Given the description of an element on the screen output the (x, y) to click on. 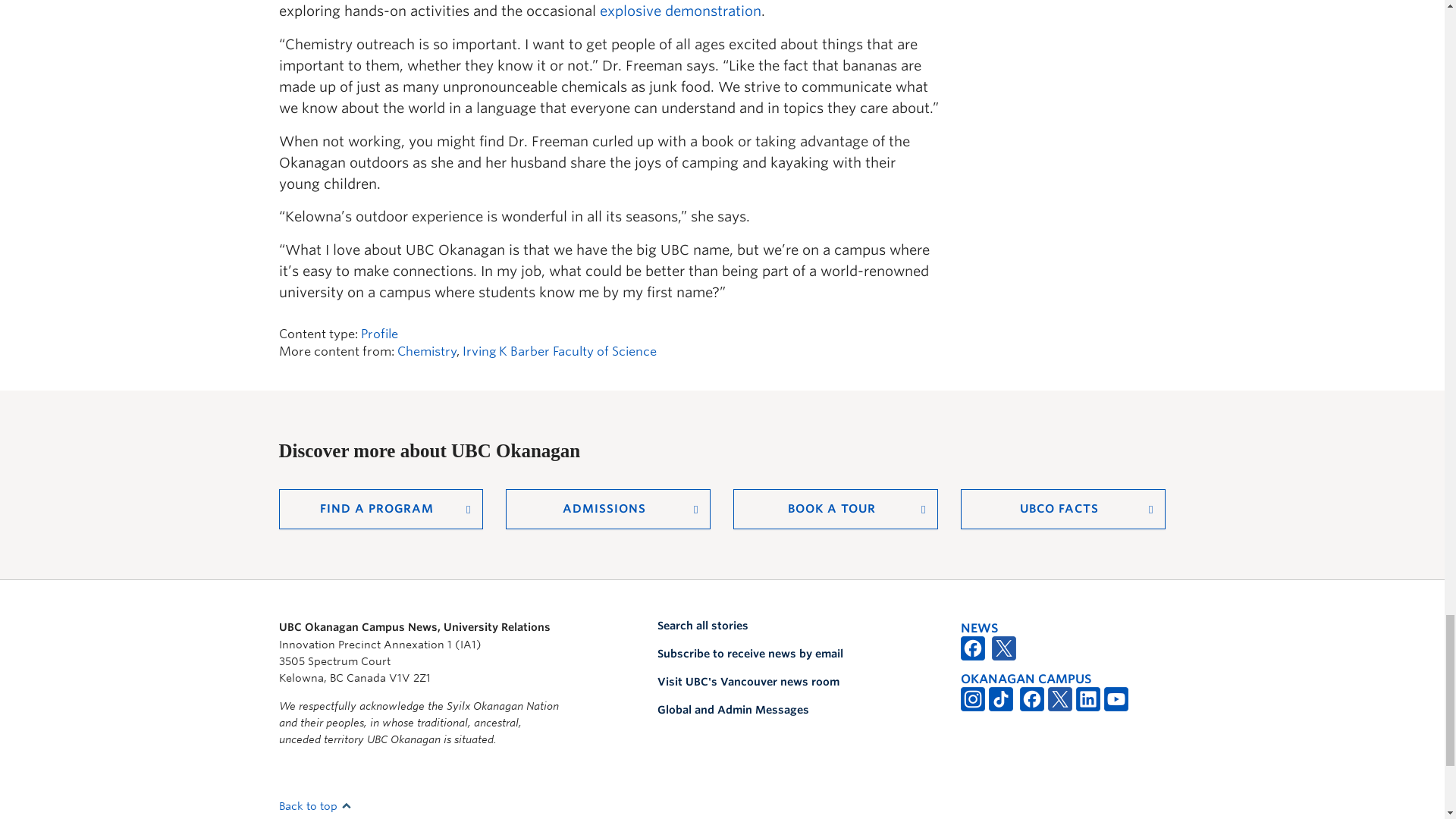
Back to top (315, 806)
